Given the description of an element on the screen output the (x, y) to click on. 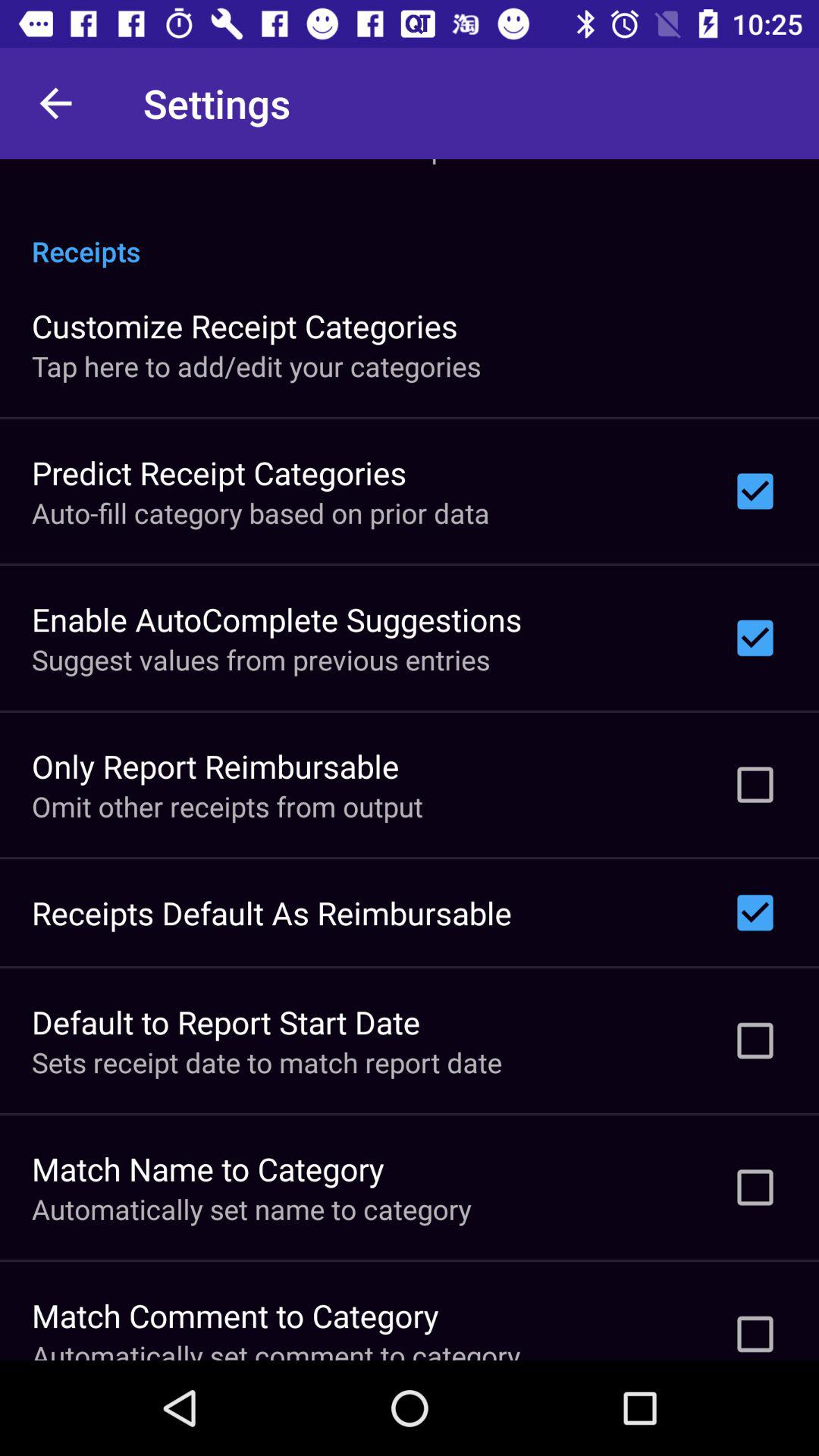
jump until the receipts default as (271, 912)
